Given the description of an element on the screen output the (x, y) to click on. 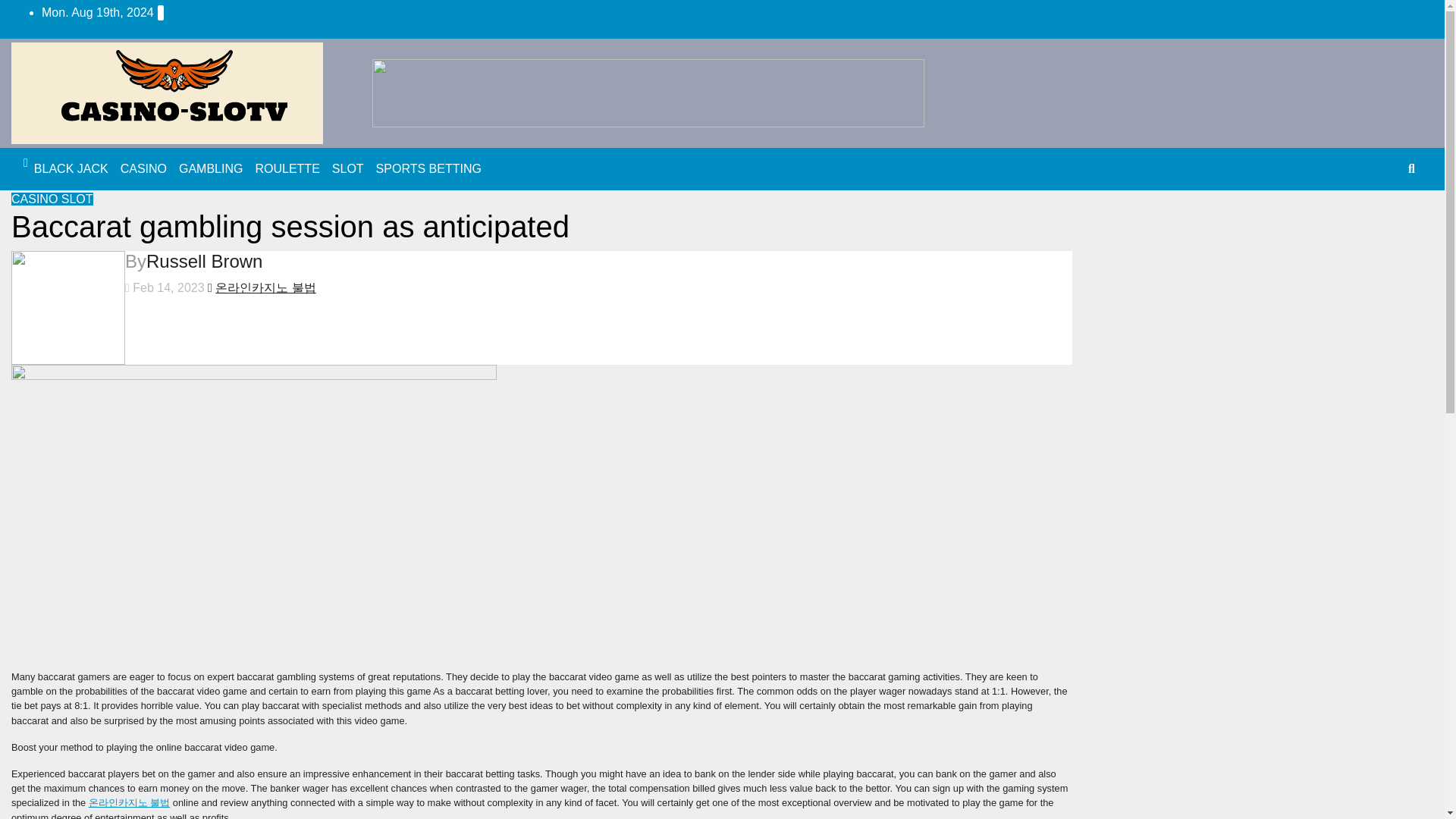
GAMBLING (210, 168)
Russell Brown (204, 260)
Permalink to: Baccarat gambling session as anticipated (290, 226)
BLACK JACK (71, 168)
CASINO (36, 198)
SPORTS BETTING (428, 168)
ROULETTE (286, 168)
CASINO (144, 168)
ROULETTE (286, 168)
BLACK JACK (71, 168)
